Given the description of an element on the screen output the (x, y) to click on. 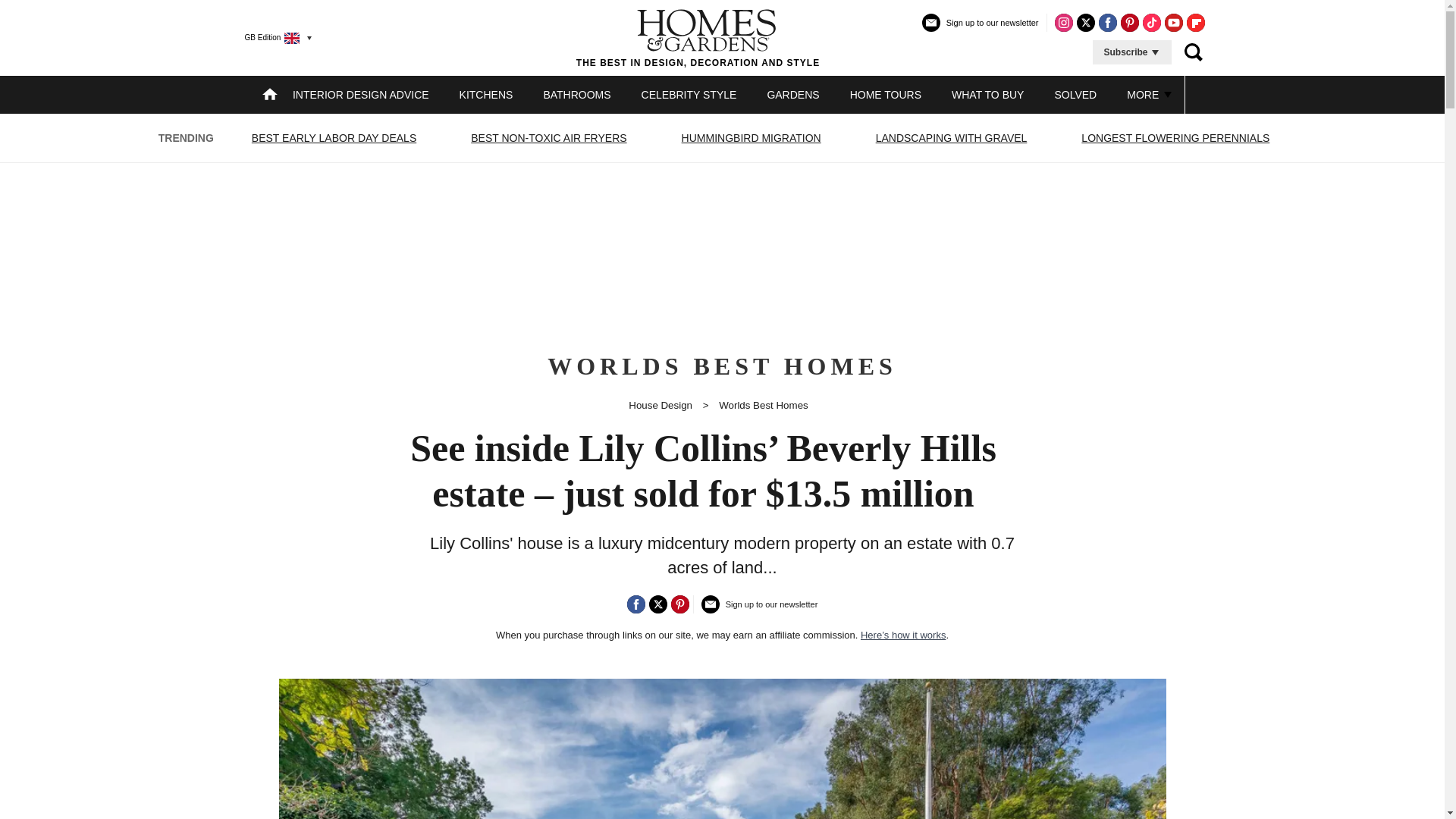
WHAT TO BUY (987, 94)
SOLVED (1075, 94)
LANDSCAPING WITH GRAVEL (951, 137)
House Design (660, 405)
GB Edition (271, 37)
BEST EARLY LABOR DAY DEALS (334, 137)
Sign up to our newsletter (980, 28)
GARDENS (792, 94)
CELEBRITY STYLE (689, 94)
BATHROOMS (576, 94)
